Given the description of an element on the screen output the (x, y) to click on. 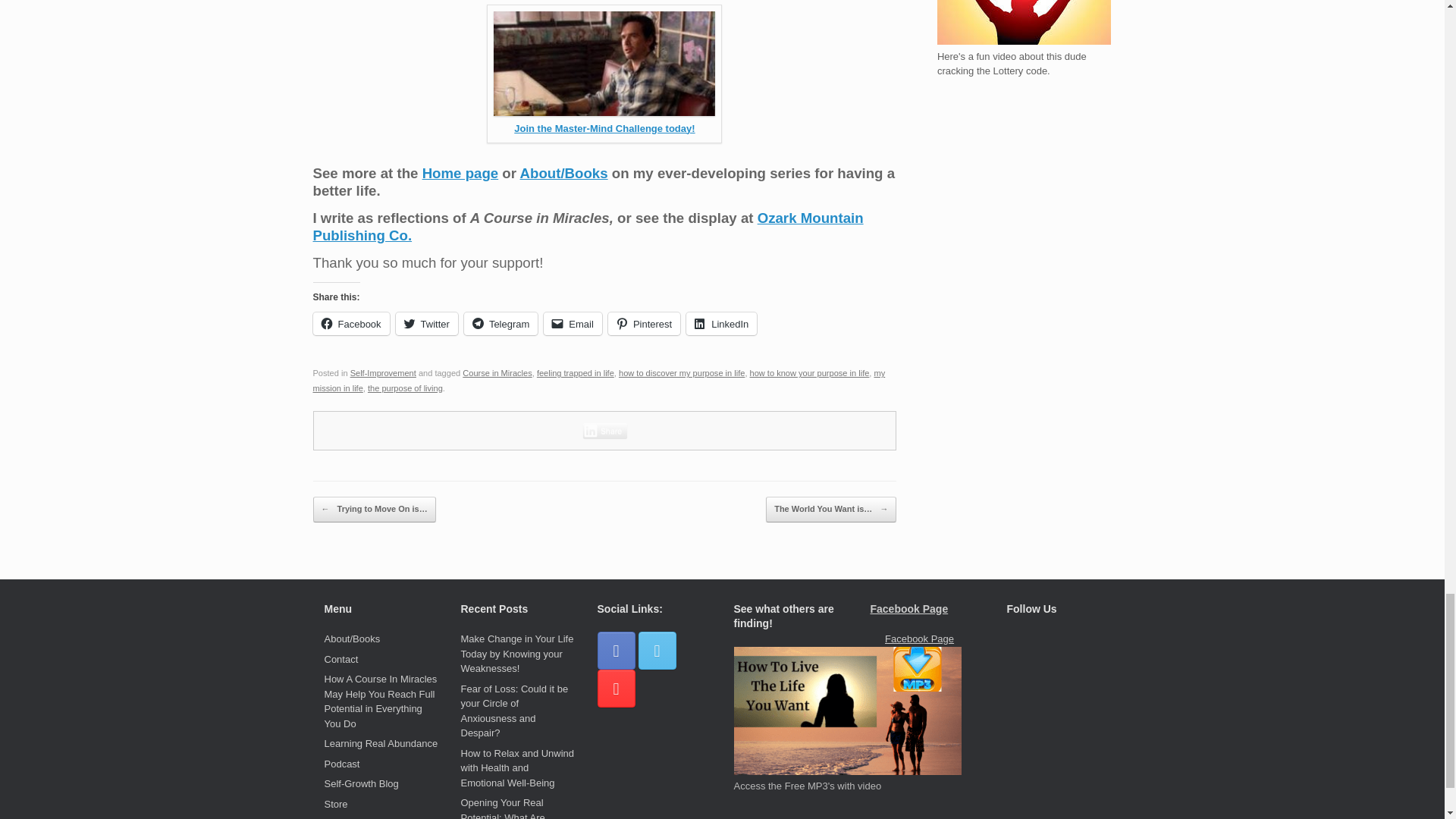
Facebook (350, 323)
Ozark Mountain Publishing Co. (588, 226)
Home page (460, 172)
how to discover my purpose in life (681, 372)
Click to share on Facebook (350, 323)
Share (604, 430)
Click to share on LinkedIn (721, 323)
Click to email a link to a friend (572, 323)
how to know your purpose in life (809, 372)
LinkedIn (721, 323)
Twitter (427, 323)
Click to share on Pinterest (643, 323)
Click to share on Twitter (427, 323)
Course in Miracles (497, 372)
Email (572, 323)
